Given the description of an element on the screen output the (x, y) to click on. 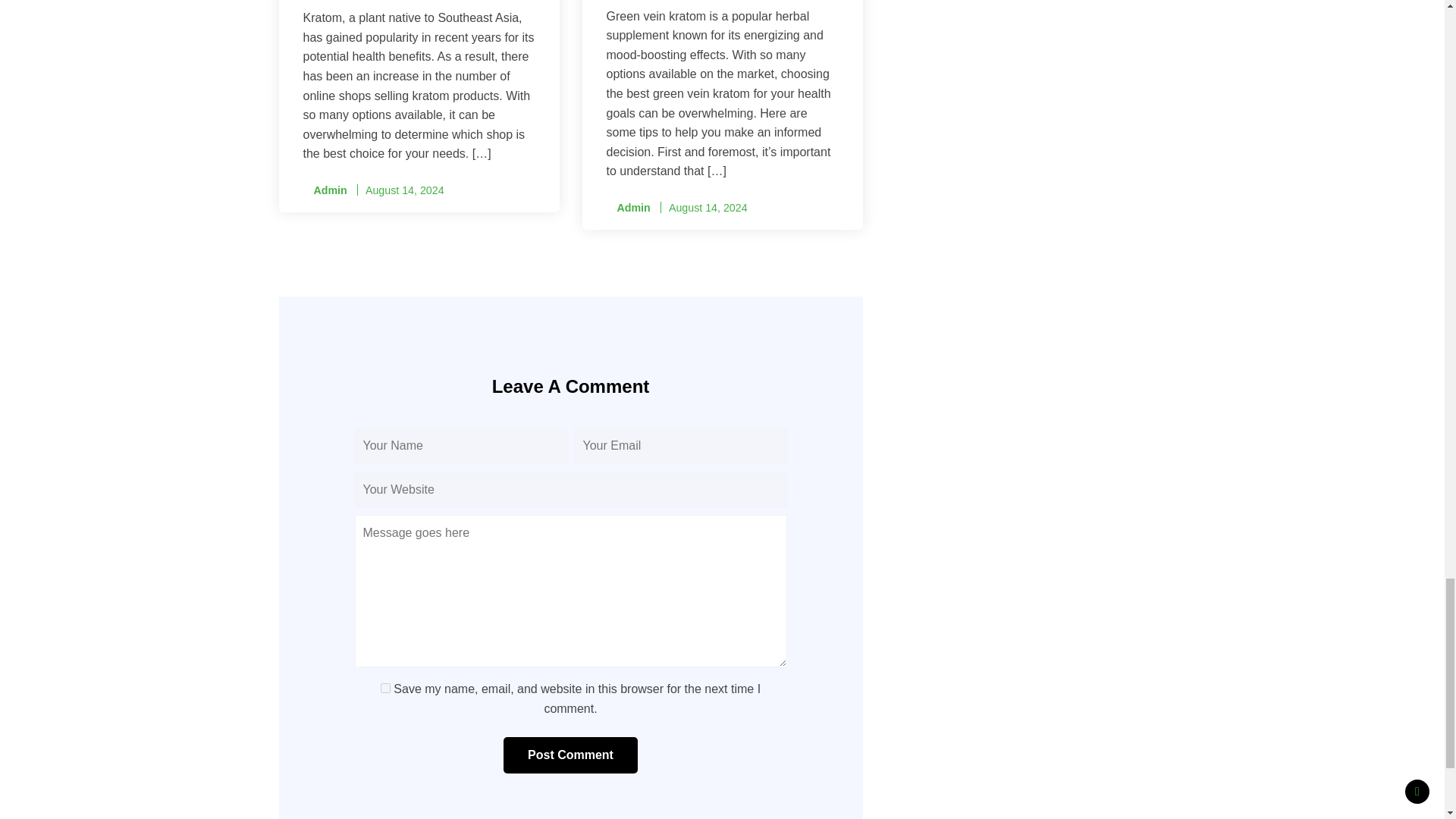
Admin (324, 190)
Admin (628, 208)
Post Comment (570, 755)
August 14, 2024 (404, 190)
yes (385, 687)
August 14, 2024 (708, 207)
